Given the description of an element on the screen output the (x, y) to click on. 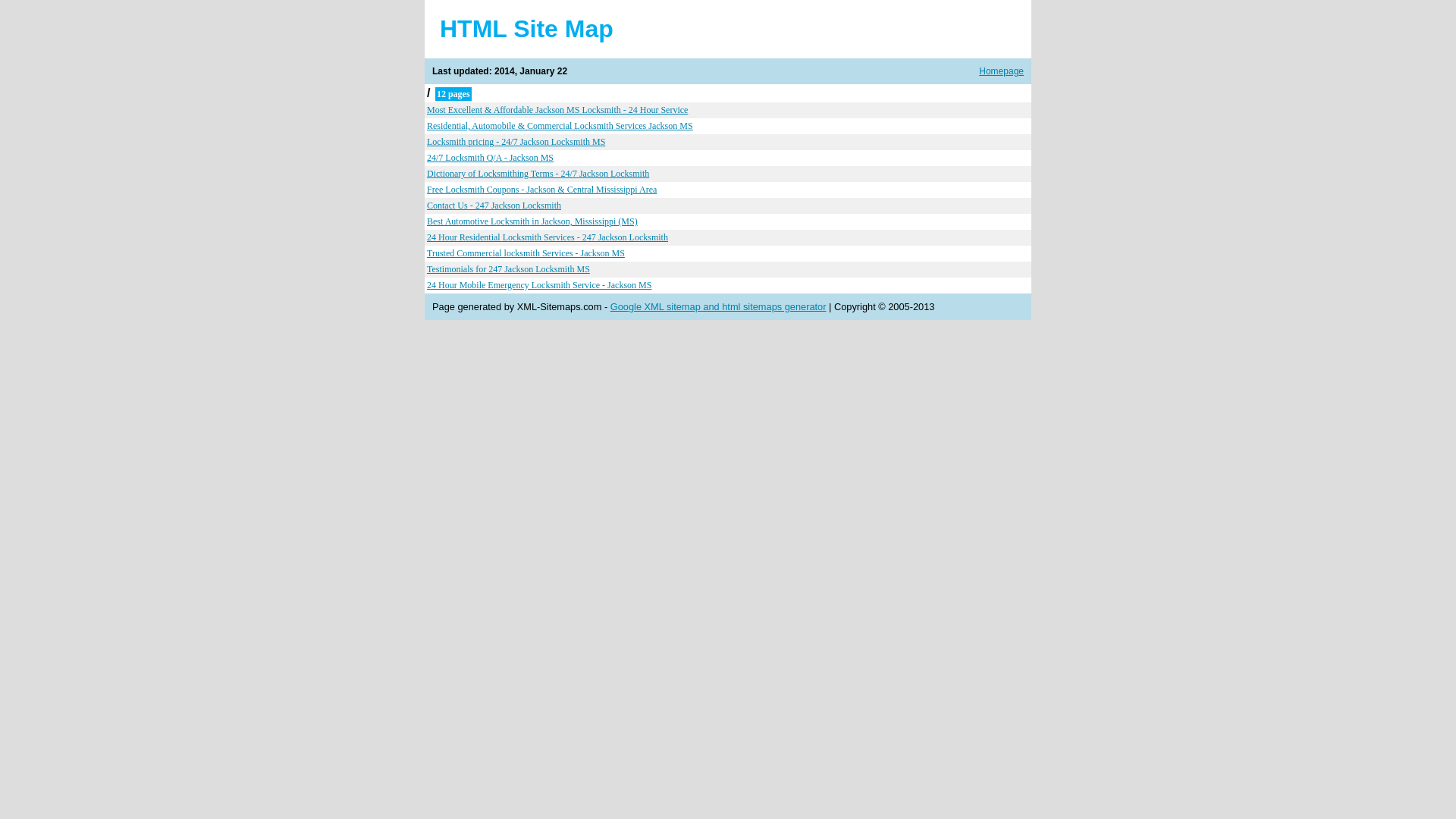
24/7 Locksmith Q/A - Jackson MS Element type: text (489, 157)
Dictionary of Locksmithing Terms - 24/7 Jackson Locksmith Element type: text (537, 173)
24 Hour Mobile Emergency Locksmith Service - Jackson MS Element type: text (538, 284)
Trusted Commercial locksmith Services - Jackson MS Element type: text (525, 252)
Google XML sitemap and html sitemaps generator Element type: text (718, 306)
Testimonials for 247 Jackson Locksmith MS Element type: text (507, 268)
Contact Us - 247 Jackson Locksmith Element type: text (493, 205)
Homepage Element type: text (1001, 70)
Locksmith pricing - 24/7 Jackson Locksmith MS Element type: text (515, 141)
Free Locksmith Coupons - Jackson & Central Mississippi Area Element type: text (541, 189)
Best Automotive Locksmith in Jackson, Mississippi (MS) Element type: text (531, 221)
